Given the description of an element on the screen output the (x, y) to click on. 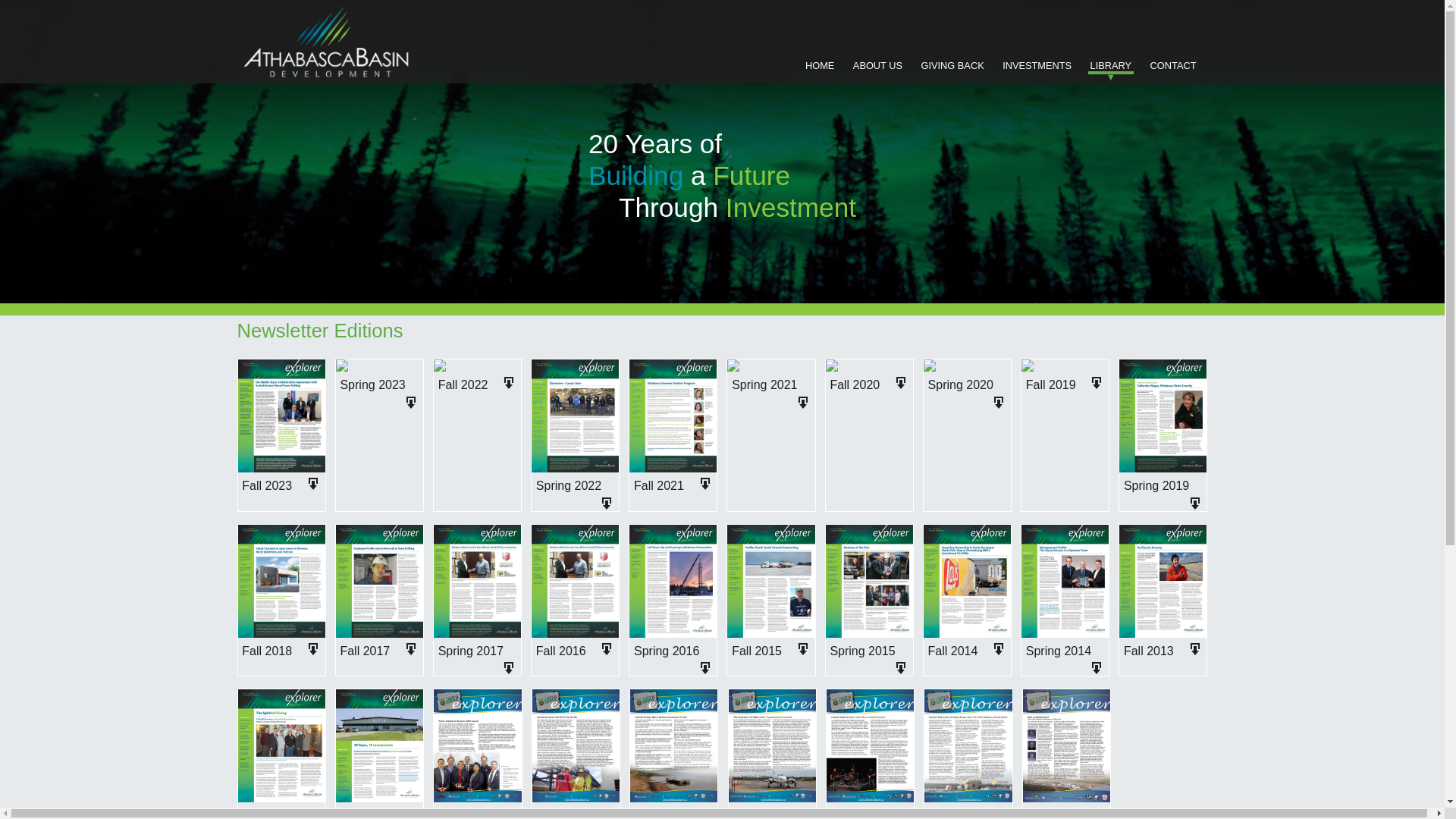
Spring 2016 Element type: text (666, 650)
Fall 2018 Element type: text (266, 650)
Spring 2019 Element type: text (1156, 485)
Fall 2020 Element type: text (854, 384)
LIBRARY Element type: text (1110, 65)
Fall 2017 Element type: text (364, 650)
Spring 2021 Element type: text (764, 384)
Fall 2013 Element type: text (1148, 650)
Fall 2021 Element type: text (658, 485)
Fall 2019 Element type: text (1051, 384)
Spring 2014 Element type: text (1058, 650)
Fall 2016 Element type: text (561, 650)
Spring 2022 Element type: text (568, 485)
Spring 2015 Element type: text (861, 650)
Fall 2022 Element type: text (463, 384)
Fall 2014 Element type: text (953, 650)
Spring 2023 Element type: text (371, 384)
Spring 2017 Element type: text (470, 650)
Spring 2020 Element type: text (960, 384)
CONTACT Element type: text (1173, 65)
Fall 2023 Element type: text (266, 485)
INVESTMENTS Element type: text (1036, 65)
ABOUT US Element type: text (877, 65)
HOME Element type: text (819, 65)
GIVING BACK Element type: text (952, 65)
Fall 2015 Element type: text (756, 650)
